Given the description of an element on the screen output the (x, y) to click on. 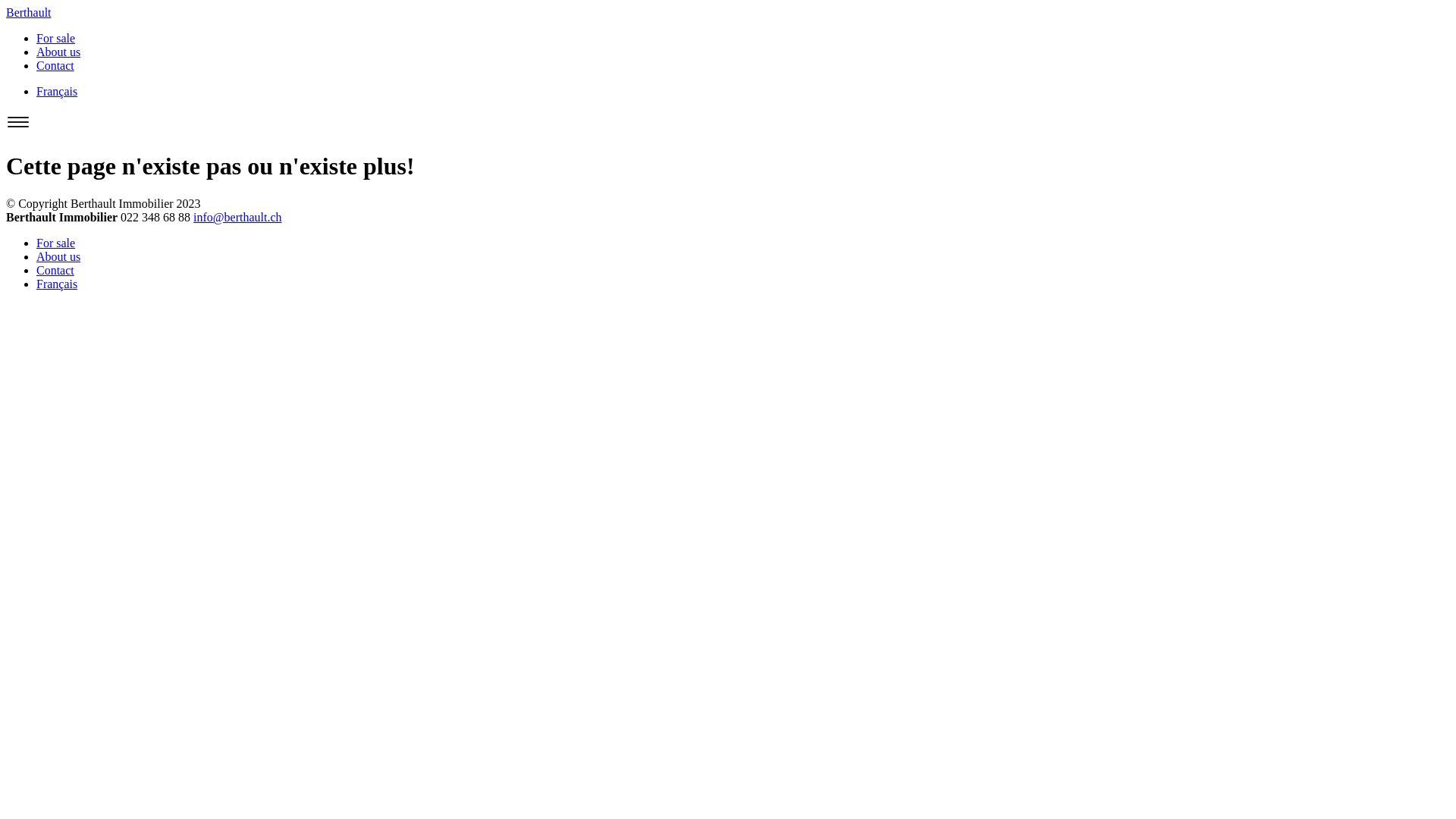
info@berthault.ch Element type: text (237, 216)
Berthault Element type: text (28, 12)
Contact Element type: text (55, 65)
Contact Element type: text (55, 269)
About us Element type: text (58, 256)
About us Element type: text (58, 51)
For sale Element type: text (55, 37)
For sale Element type: text (55, 242)
